Given the description of an element on the screen output the (x, y) to click on. 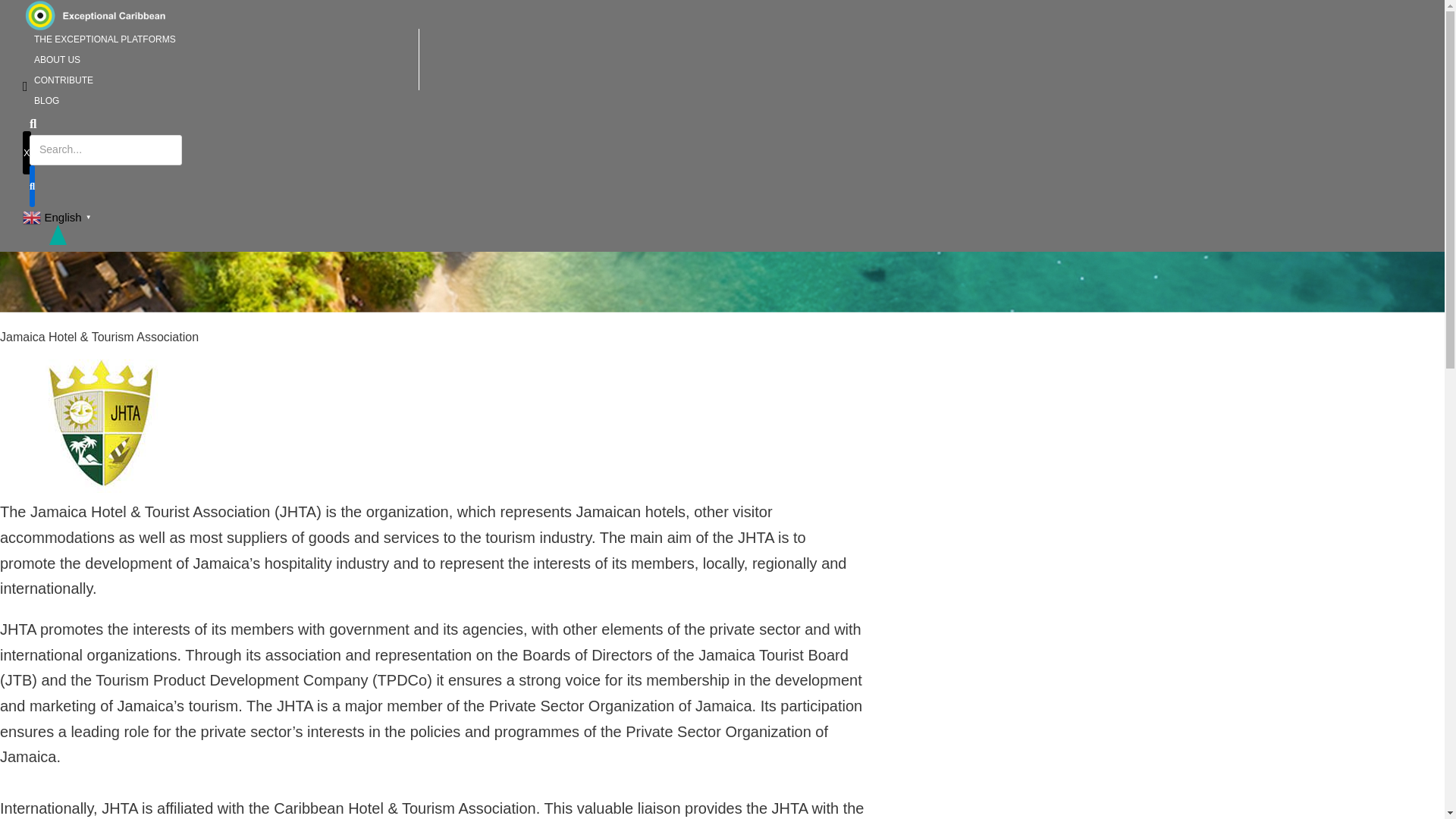
BLOG (46, 100)
ABOUT US (57, 59)
Skip to content (15, 7)
CONTRIBUTE (63, 80)
THE EXCEPTIONAL PLATFORMS (105, 39)
jhtalogo Exceptional Caribbean Exceptional Caribbean (99, 420)
